Given the description of an element on the screen output the (x, y) to click on. 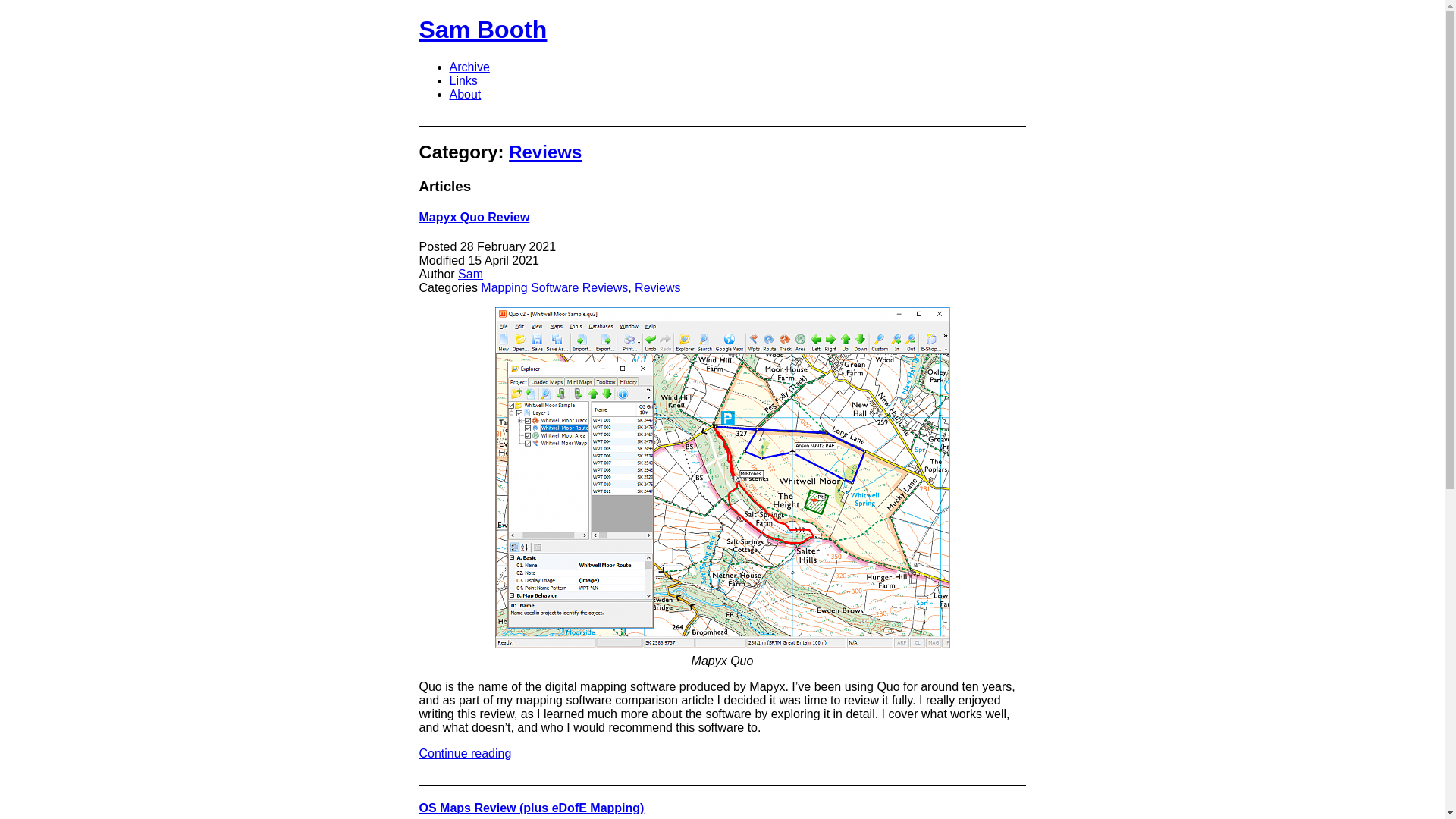
Mapping Software Reviews (553, 287)
Sam (470, 273)
Mapyx Quo Review (474, 216)
Reviews (544, 151)
Continue reading (465, 753)
Sam Booth (483, 29)
Read more (474, 216)
Archive (468, 66)
Links (462, 80)
About (464, 93)
